Given the description of an element on the screen output the (x, y) to click on. 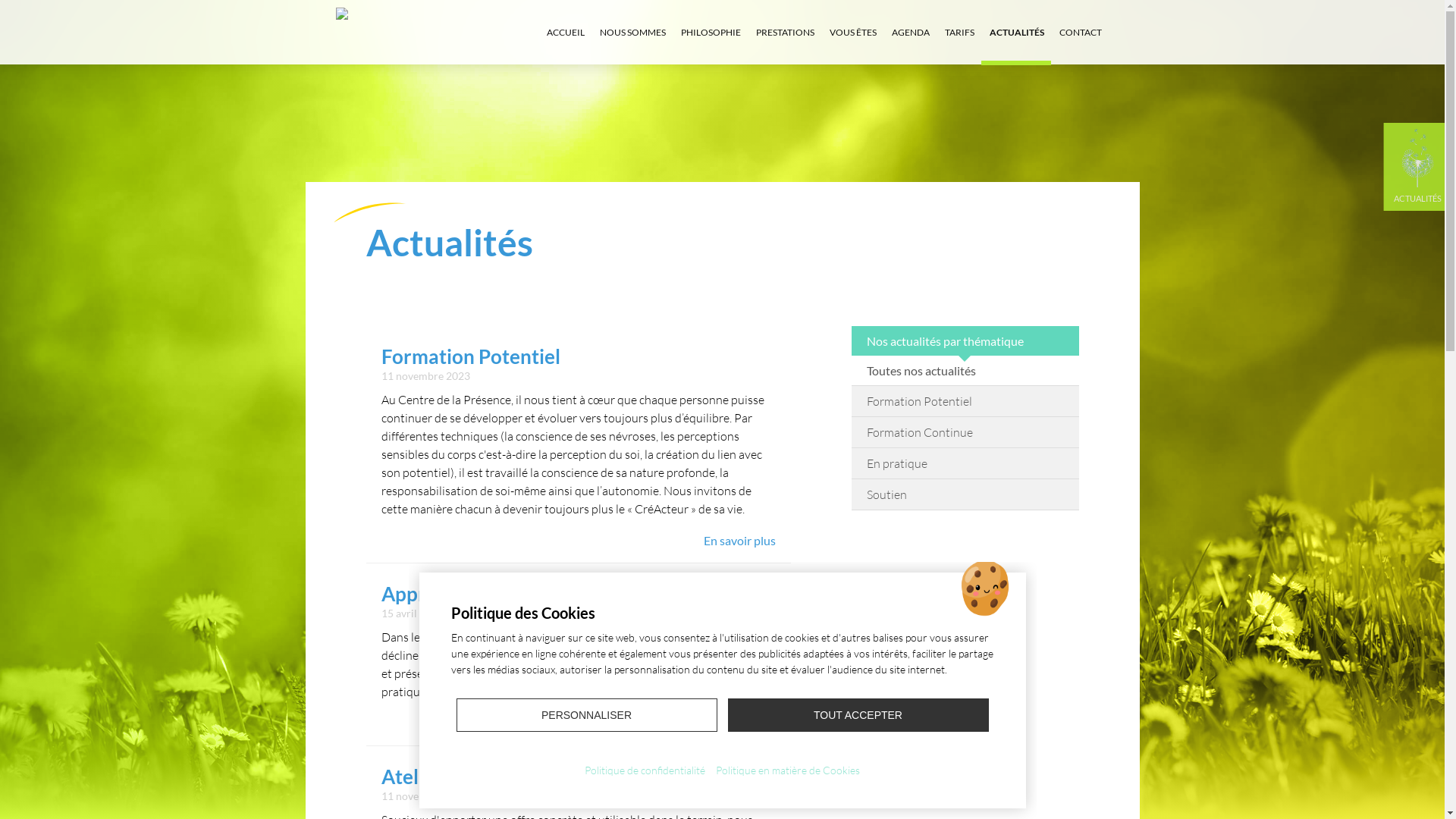
Soutien Element type: text (964, 494)
PHILOSOPHIE Element type: text (710, 31)
NOUS SOMMES Element type: text (632, 31)
Formation Potentiel Element type: text (469, 356)
Atelier en pratique Element type: text (464, 776)
AGENDA Element type: text (910, 31)
CONTACT Element type: text (1079, 31)
En pratique Element type: text (964, 463)
Formation Potentiel Element type: text (964, 400)
PRESTATIONS Element type: text (784, 31)
ACCUEIL Element type: text (564, 31)
TARIFS Element type: text (959, 31)
TOUT ACCEPTER Element type: text (858, 714)
Formation Continue Element type: text (964, 432)
PERSONNALISER Element type: text (586, 714)
